Given the description of an element on the screen output the (x, y) to click on. 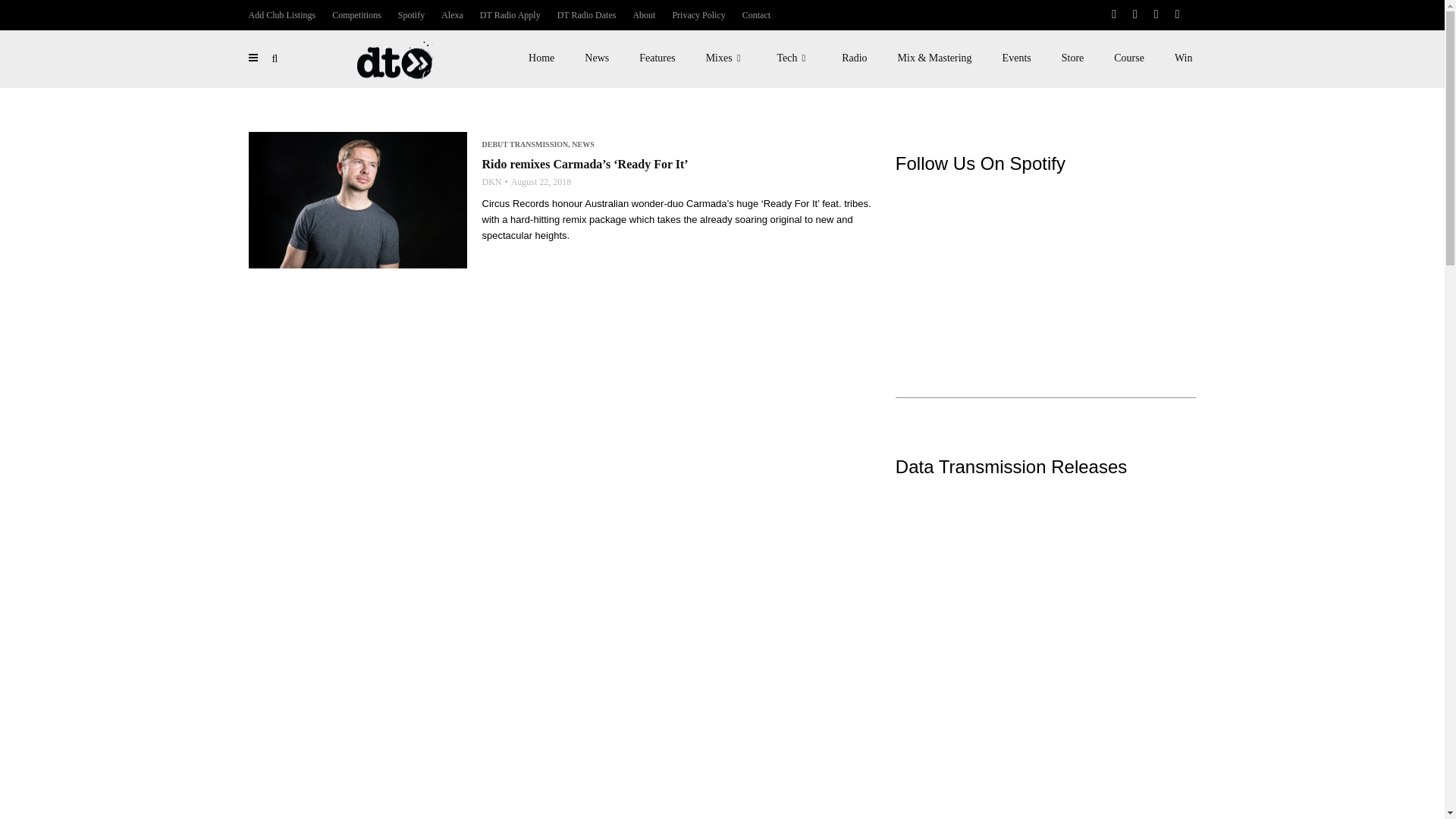
News (596, 57)
Events (1016, 57)
Home (541, 57)
Store (1072, 57)
Spotify Embed: New Music Friday (1045, 259)
Features (657, 57)
Course (1128, 57)
Mixes (725, 57)
Tech (794, 57)
Radio (854, 57)
